Given the description of an element on the screen output the (x, y) to click on. 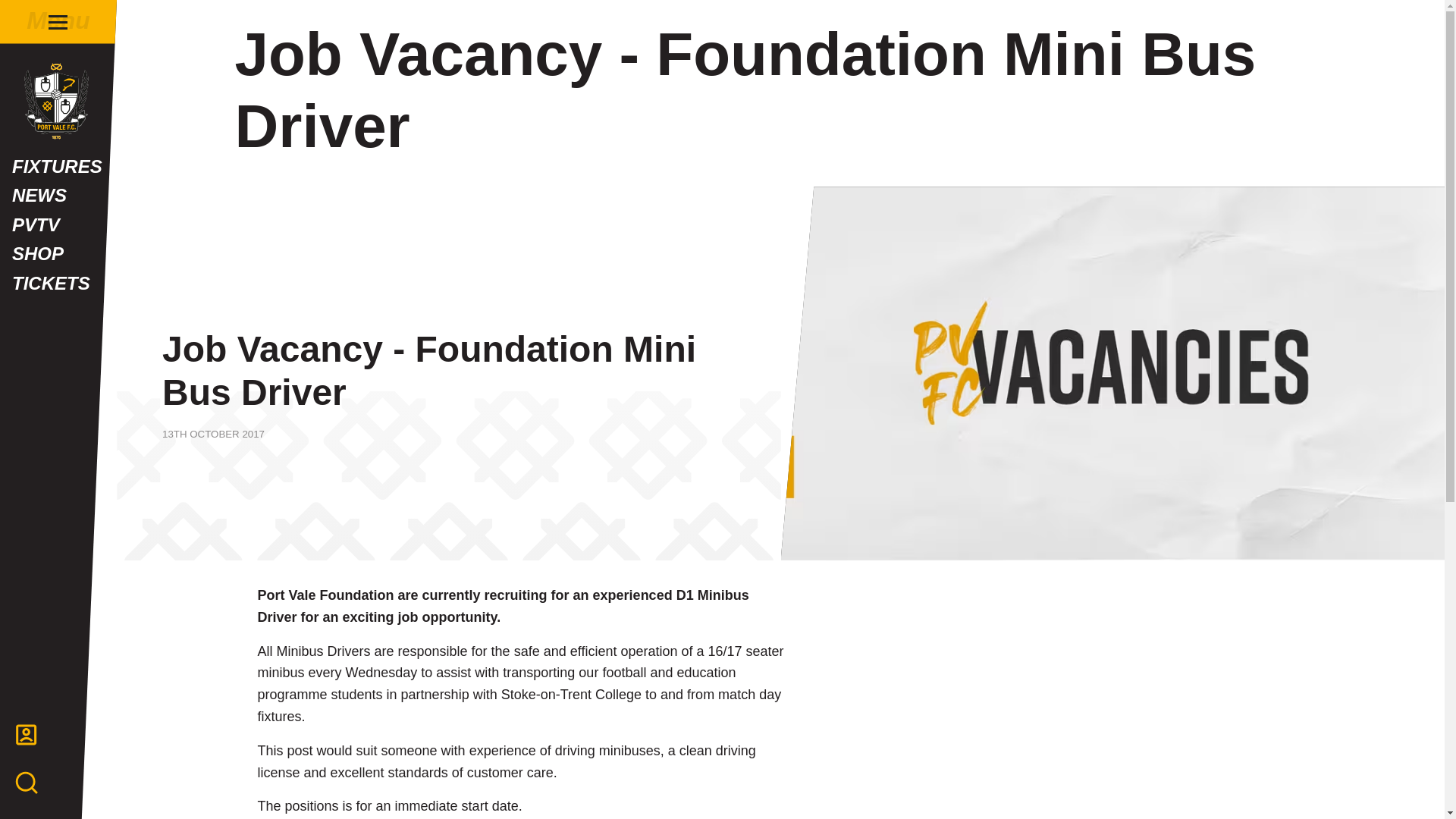
TICKETS (57, 283)
Search (721, 470)
SHOP (57, 253)
PVTV (57, 224)
FIXTURES (57, 166)
Menu (58, 21)
NEWS (57, 194)
